Given the description of an element on the screen output the (x, y) to click on. 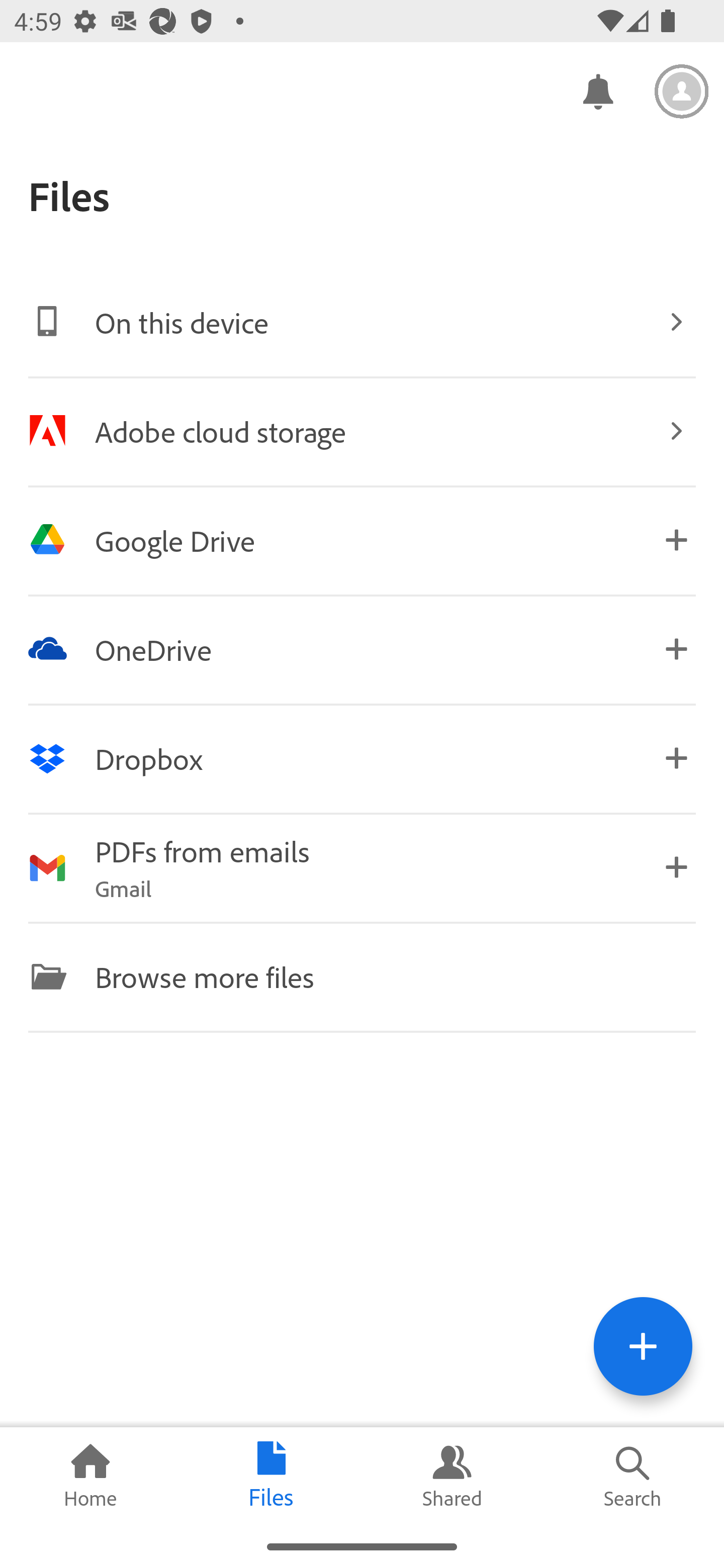
Notifications (597, 90)
Settings (681, 91)
Image On this device (362, 322)
Image Adobe cloud storage (362, 431)
Image Google Drive (362, 540)
Image OneDrive (362, 649)
Image Dropbox (362, 758)
Image PDFs from emails Gmail (362, 866)
Image Browse more files (362, 975)
Tools (642, 1345)
Home (90, 1475)
Files (271, 1475)
Shared (452, 1475)
Search (633, 1475)
